Given the description of an element on the screen output the (x, y) to click on. 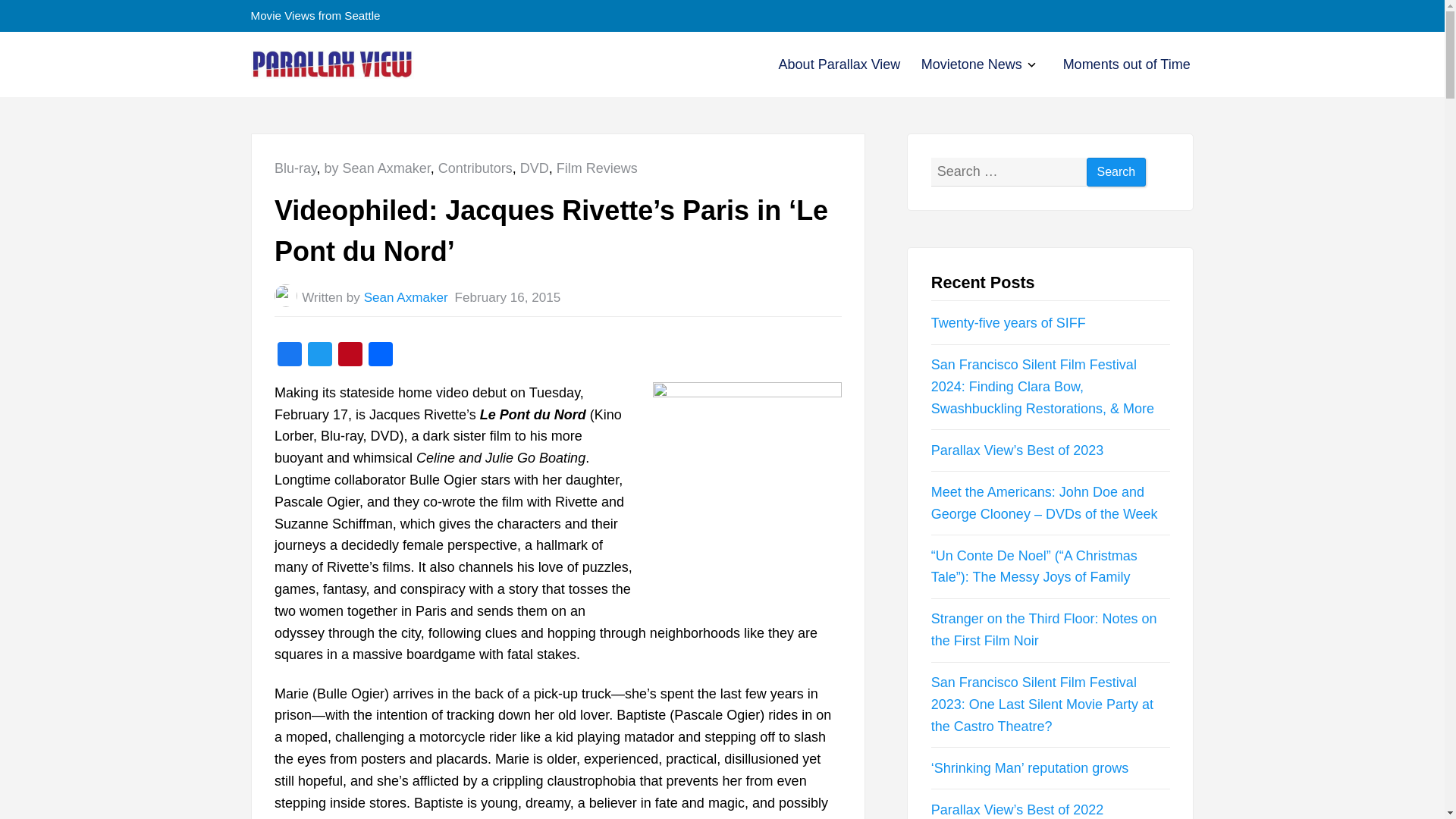
Twitter (319, 356)
Pinterest (349, 356)
Moments out of Time (1126, 64)
Movietone News (971, 64)
Facebook (289, 356)
Twitter (319, 356)
About Parallax View (839, 64)
by Sean Axmaker (377, 168)
Movietone News (971, 64)
Blu-ray (296, 168)
